Given the description of an element on the screen output the (x, y) to click on. 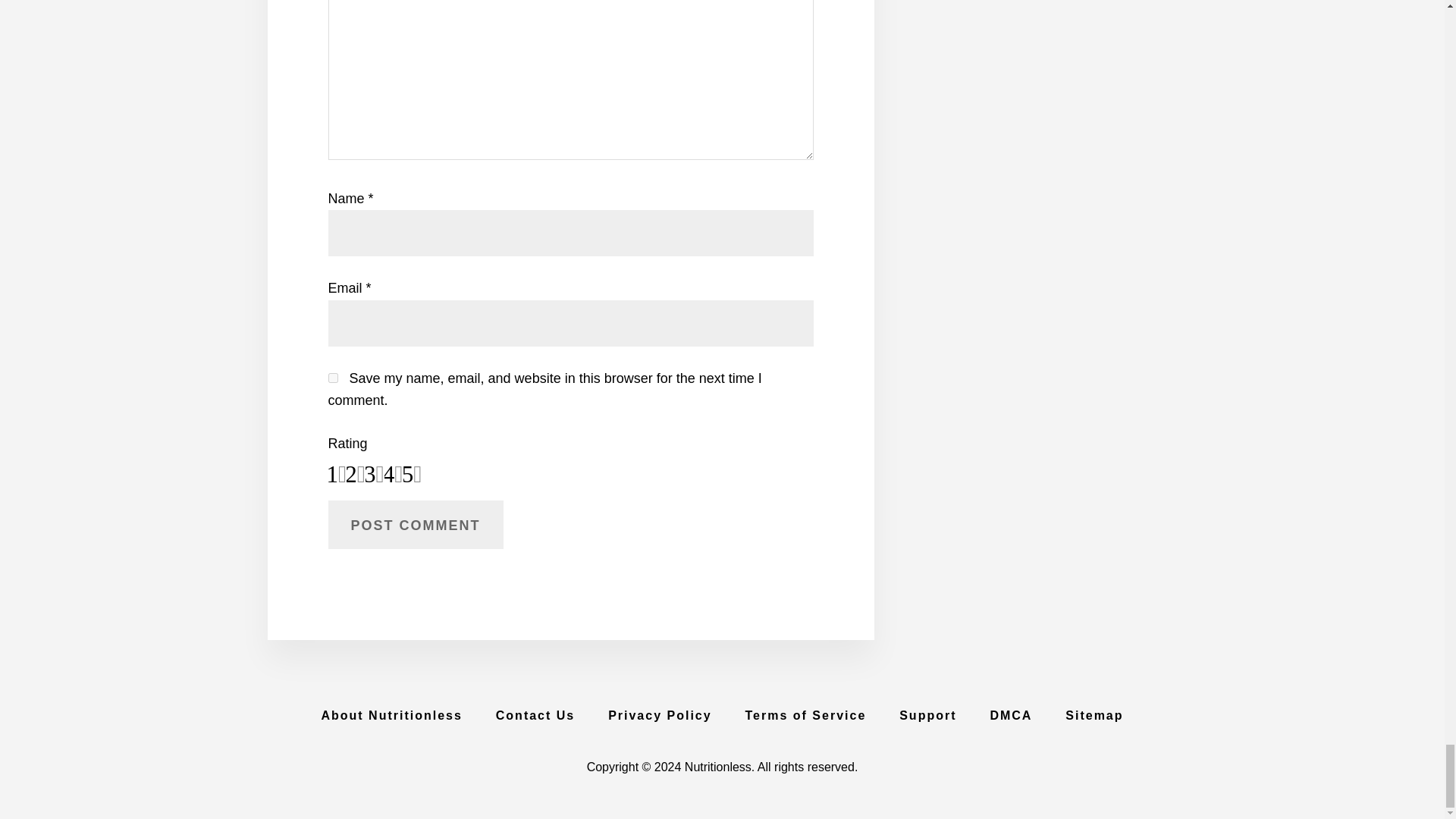
yes (332, 378)
Post Comment (414, 524)
